Given the description of an element on the screen output the (x, y) to click on. 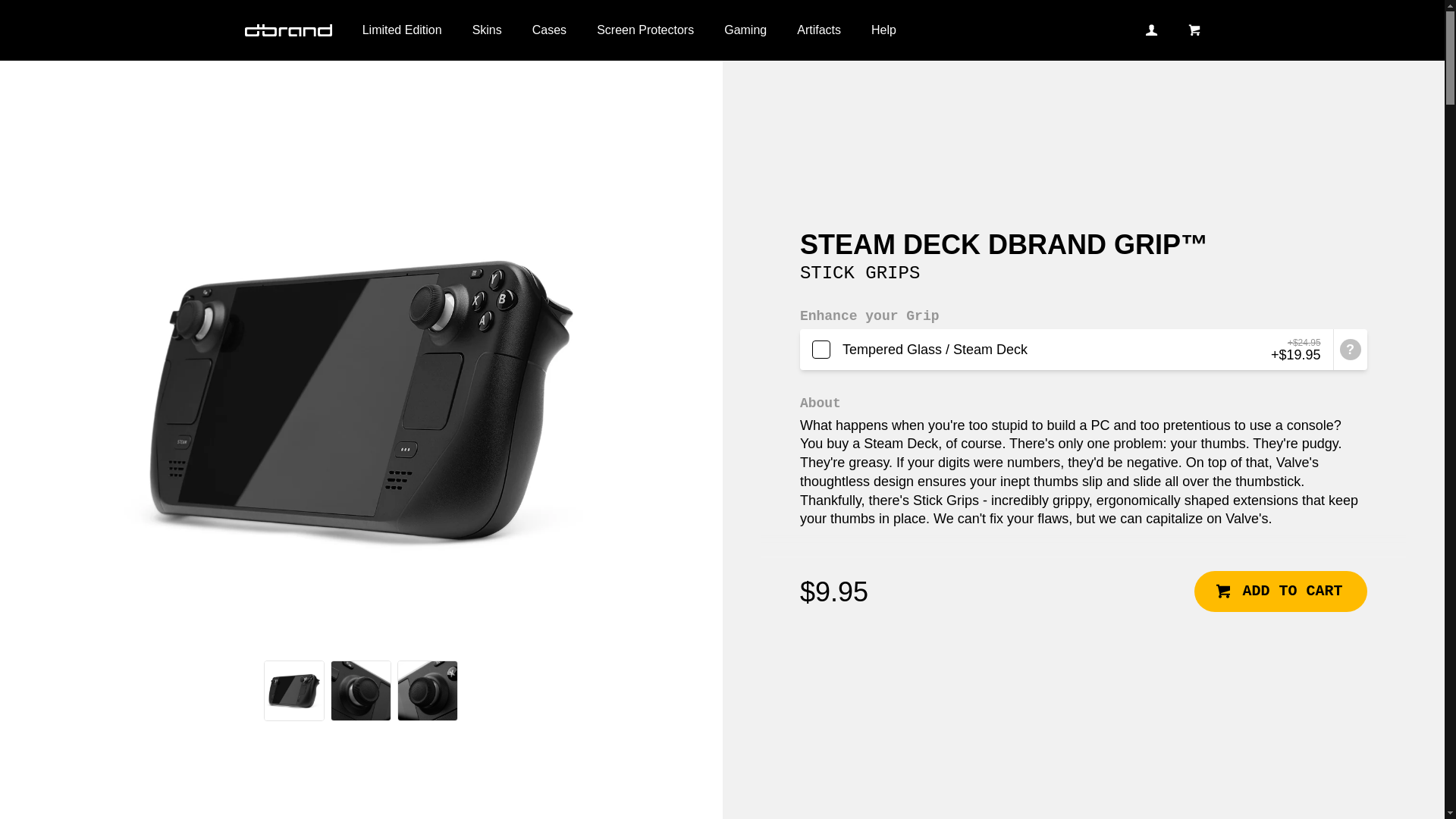
Limited Edition (402, 30)
ADD TO CART (1280, 590)
Skins (486, 30)
Cases (548, 30)
Artifacts (818, 30)
Help (883, 30)
Gaming (745, 30)
tempered-glass-steam-deck (1066, 349)
Screen Protectors (644, 30)
Skip to content (12, 6)
